Given the description of an element on the screen output the (x, y) to click on. 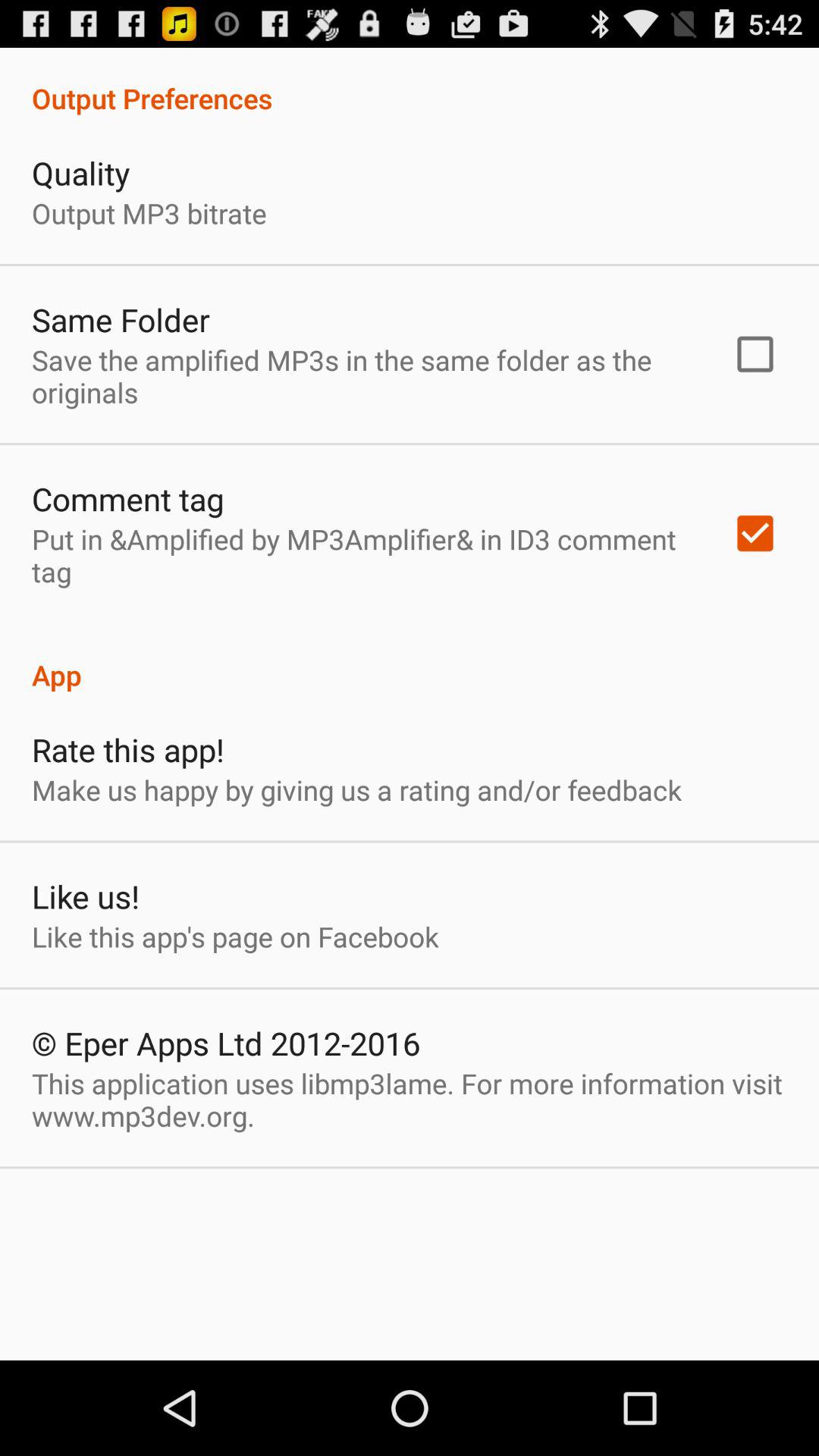
swipe until the this application uses app (409, 1099)
